Given the description of an element on the screen output the (x, y) to click on. 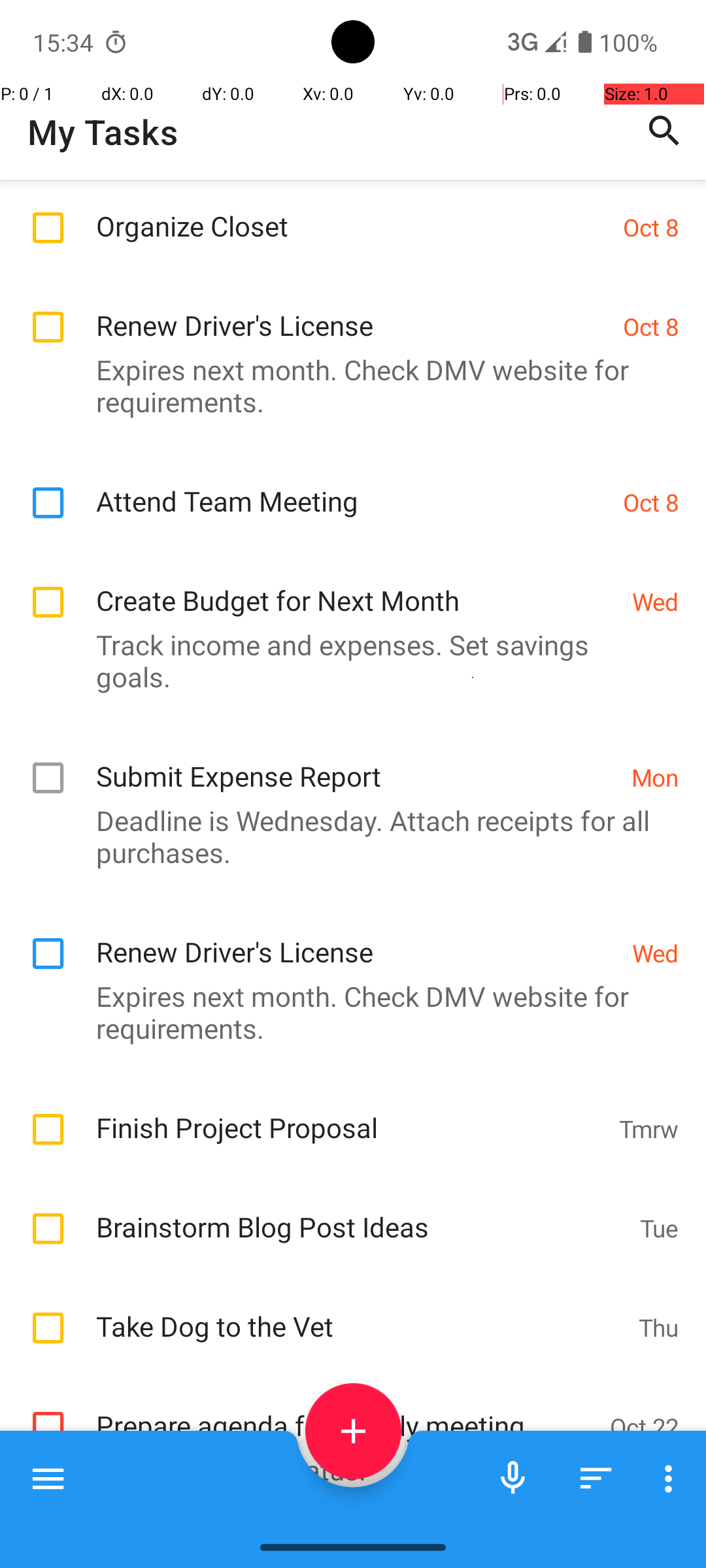
Organize Closet Element type: android.widget.TextView (352, 211)
Oct 8 Element type: android.widget.TextView (650, 226)
Expires next month. Check DMV website for requirements. Element type: android.widget.TextView (346, 385)
Track income and expenses. Set savings goals. Element type: android.widget.TextView (346, 660)
Deadline is Wednesday. Attach receipts for all purchases. Element type: android.widget.TextView (346, 835)
Finish Project Proposal Element type: android.widget.TextView (350, 1113)
Brainstorm Blog Post Ideas Element type: android.widget.TextView (361, 1212)
Take Dog to the Vet Element type: android.widget.TextView (360, 1311)
Prepare agenda for weekly meeting Element type: android.widget.TextView (346, 1411)
Update project status. Element type: android.widget.TextView (346, 1469)
Oct 22 Element type: android.widget.TextView (644, 1426)
Read 'The Martian' Element type: android.widget.TextView (360, 1524)
